Given the description of an element on the screen output the (x, y) to click on. 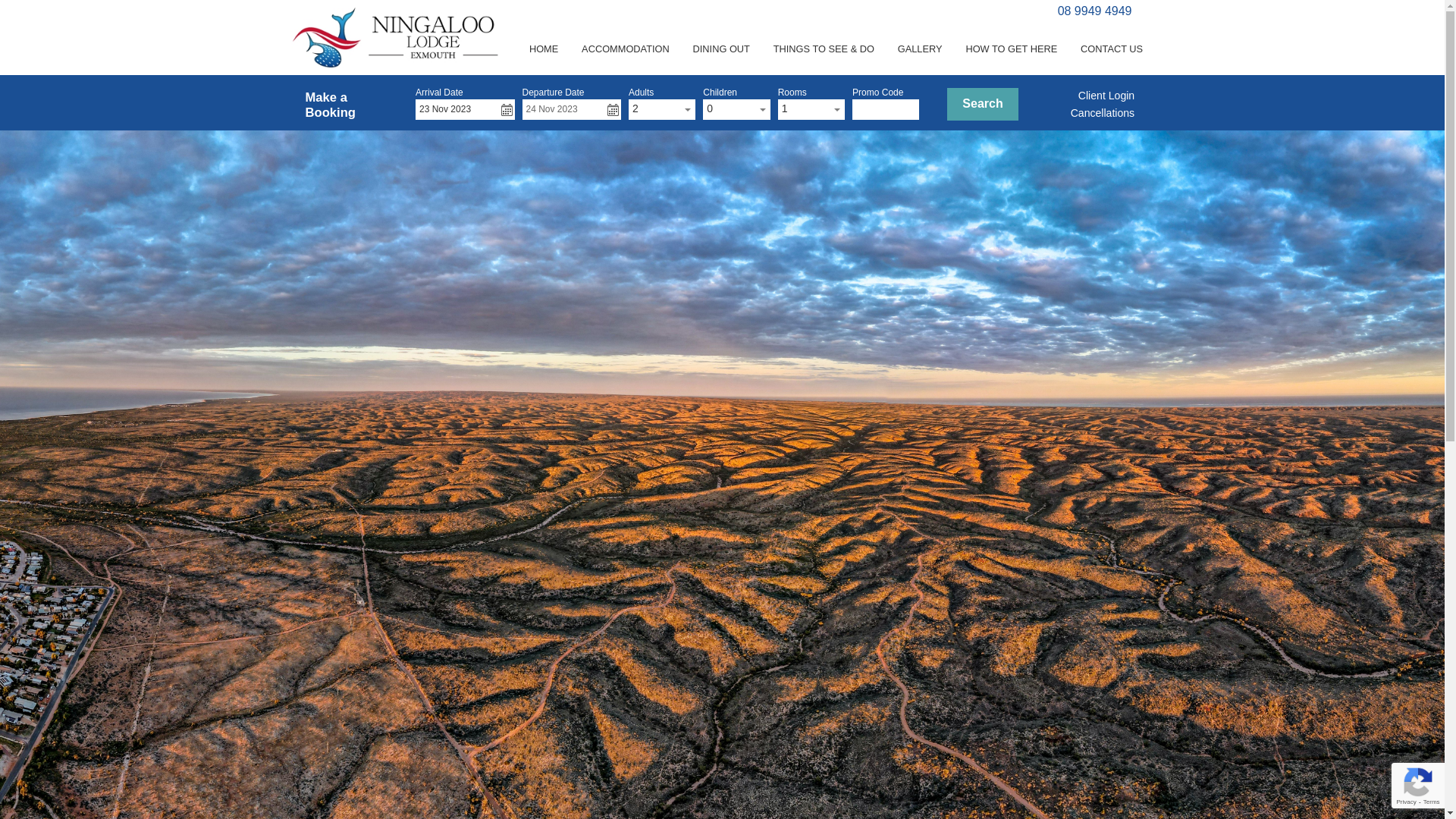
CONTACT US Element type: text (1111, 48)
Cancellations Element type: text (1102, 112)
GALLERY Element type: text (919, 48)
DINING OUT Element type: text (720, 48)
HOME Element type: text (543, 48)
08 9949 4949 Element type: text (1094, 10)
Search Element type: text (982, 103)
Client Login Element type: text (1106, 95)
THINGS TO SEE & DO Element type: text (823, 48)
HOW TO GET HERE Element type: text (1011, 48)
ACCOMMODATION Element type: text (625, 48)
